Given the description of an element on the screen output the (x, y) to click on. 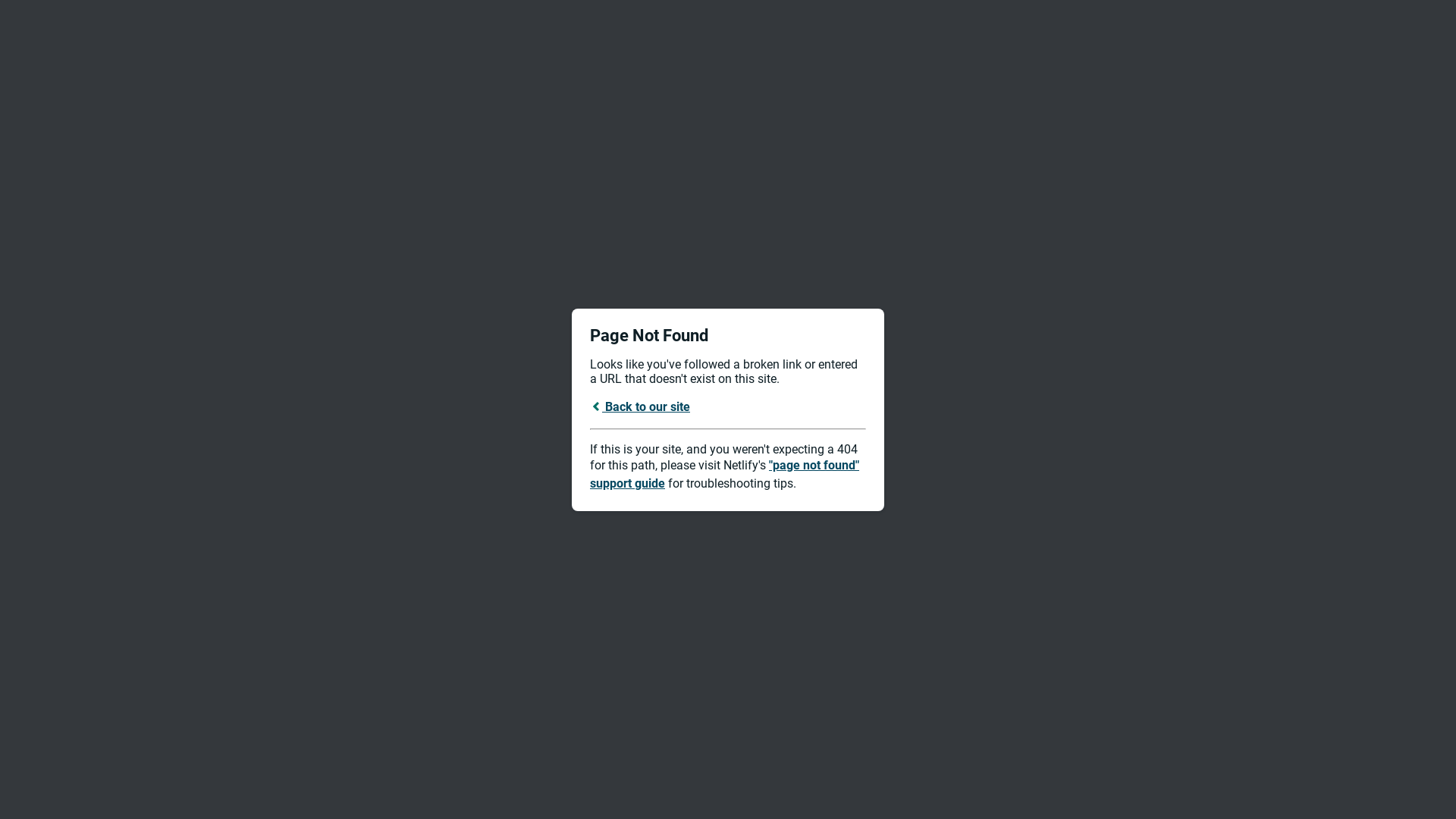
Back to our site Element type: text (639, 405)
"page not found" support guide Element type: text (724, 474)
